Given the description of an element on the screen output the (x, y) to click on. 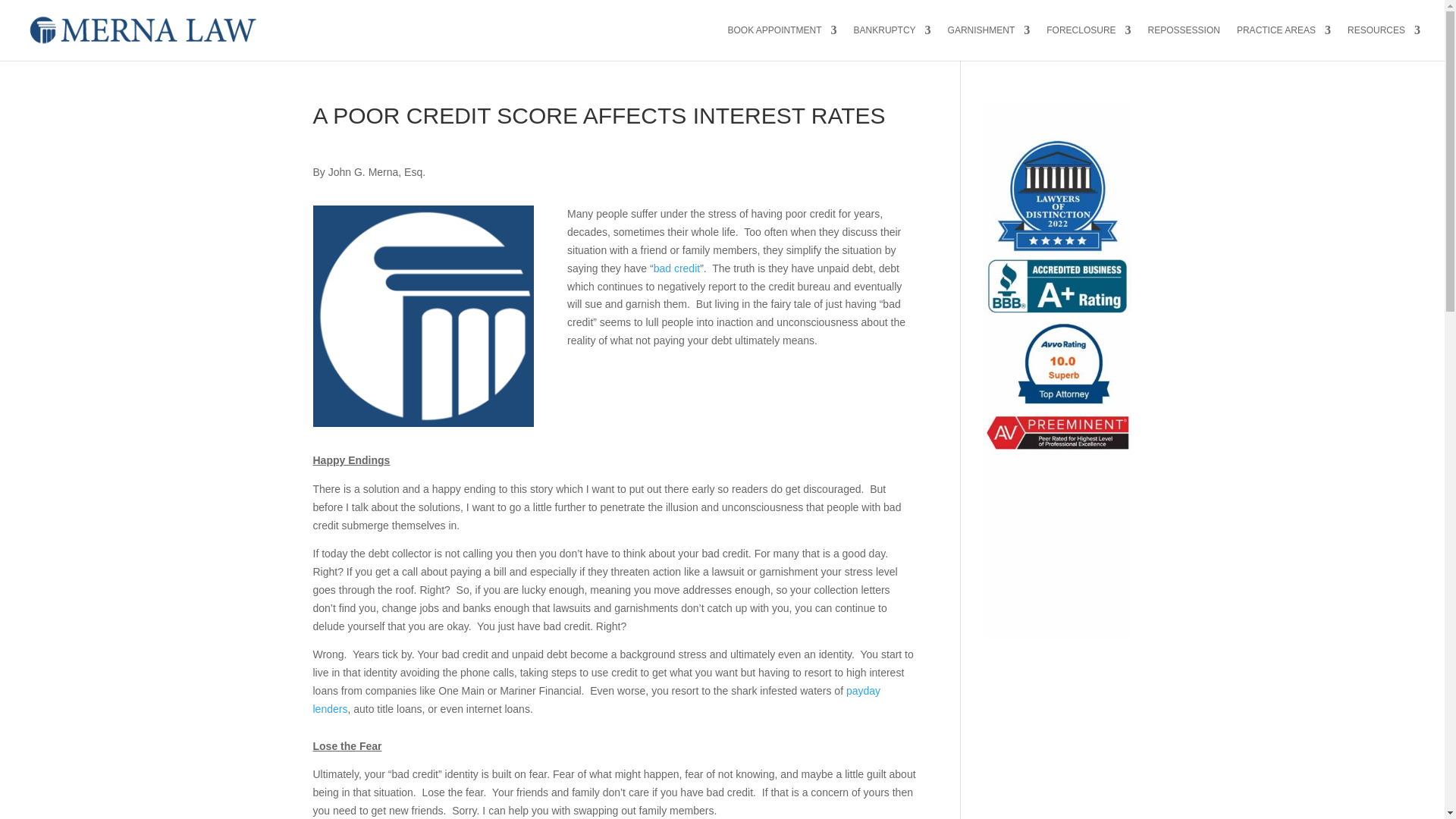
REPOSSESSION (1184, 42)
BANKRUPTCY (892, 42)
PRACTICE AREAS (1283, 42)
Merna Law Icon (423, 315)
BOOK APPOINTMENT (782, 42)
GARNISHMENT (988, 42)
FORECLOSURE (1088, 42)
